Given the description of an element on the screen output the (x, y) to click on. 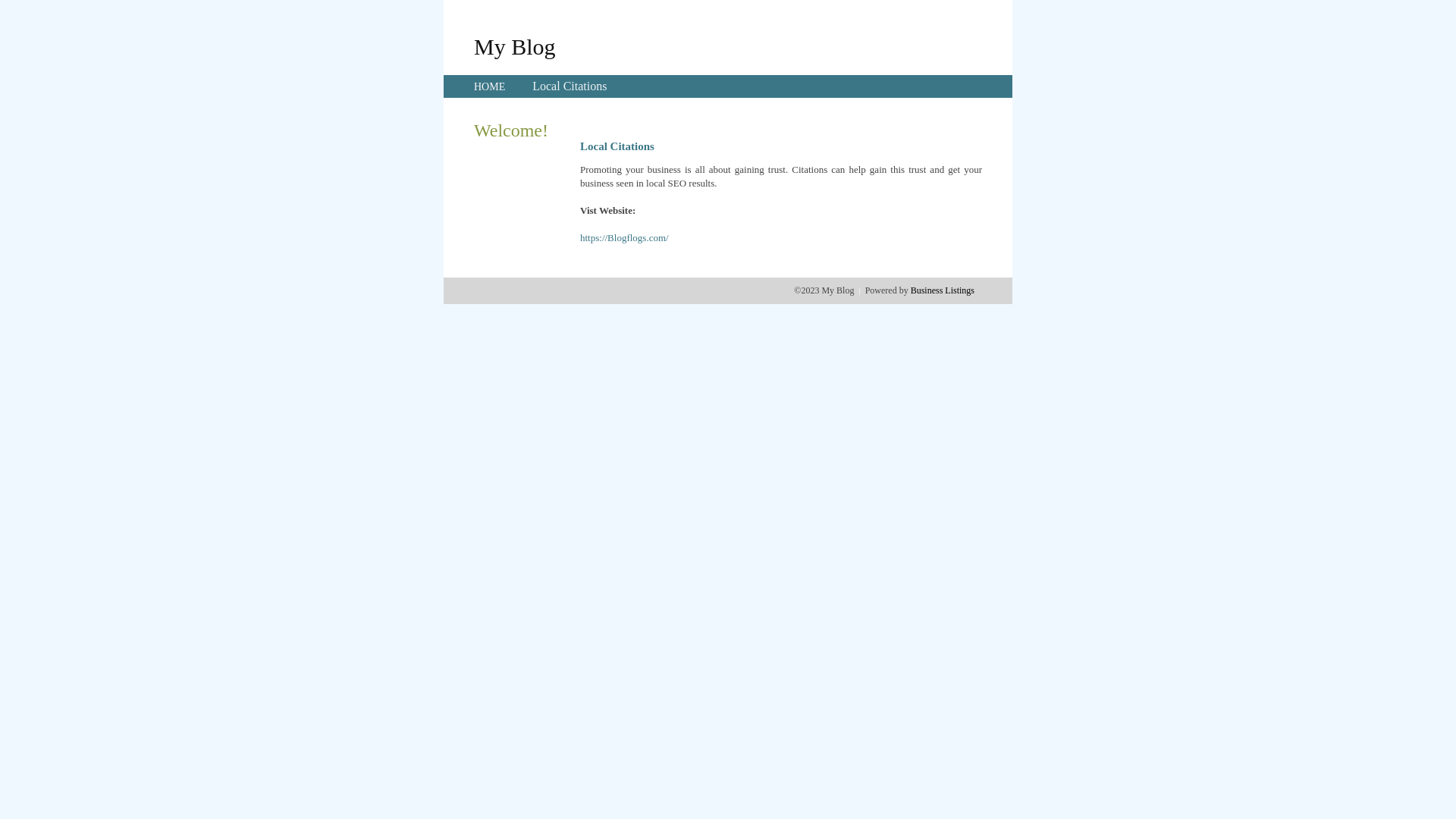
https://Blogflogs.com/ Element type: text (624, 237)
Business Listings Element type: text (942, 290)
My Blog Element type: text (514, 46)
HOME Element type: text (489, 86)
Local Citations Element type: text (569, 85)
